Given the description of an element on the screen output the (x, y) to click on. 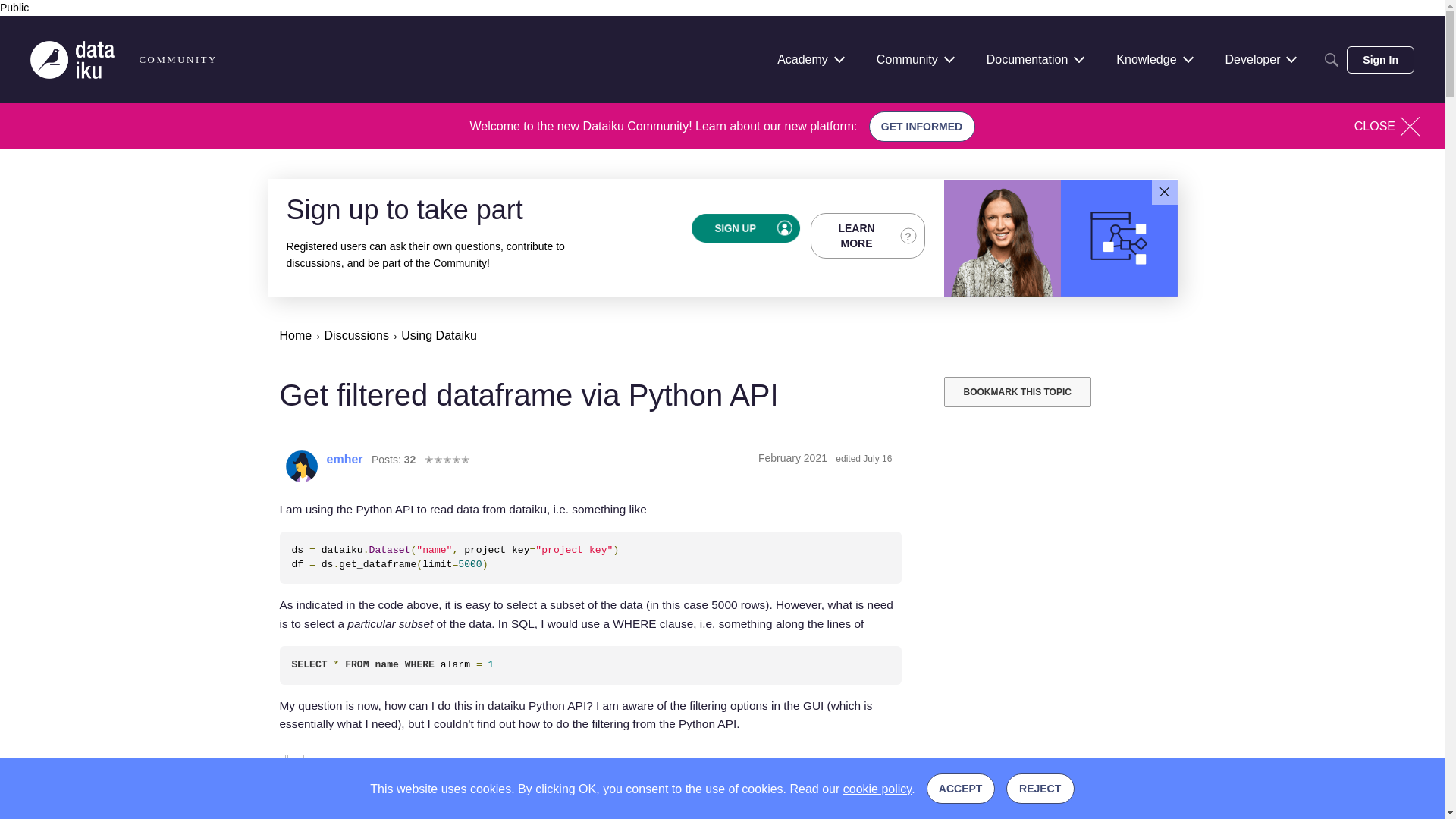
February 18, 2021 8:42AM (792, 458)
Search (1331, 58)
emher (301, 466)
Academy (810, 59)
Level 5 (447, 459)
Documentation (1034, 59)
Edited July 16, 2024 3:16PM by Michael Grayson. (863, 458)
Knowledge (1153, 59)
Community (914, 59)
